Given the description of an element on the screen output the (x, y) to click on. 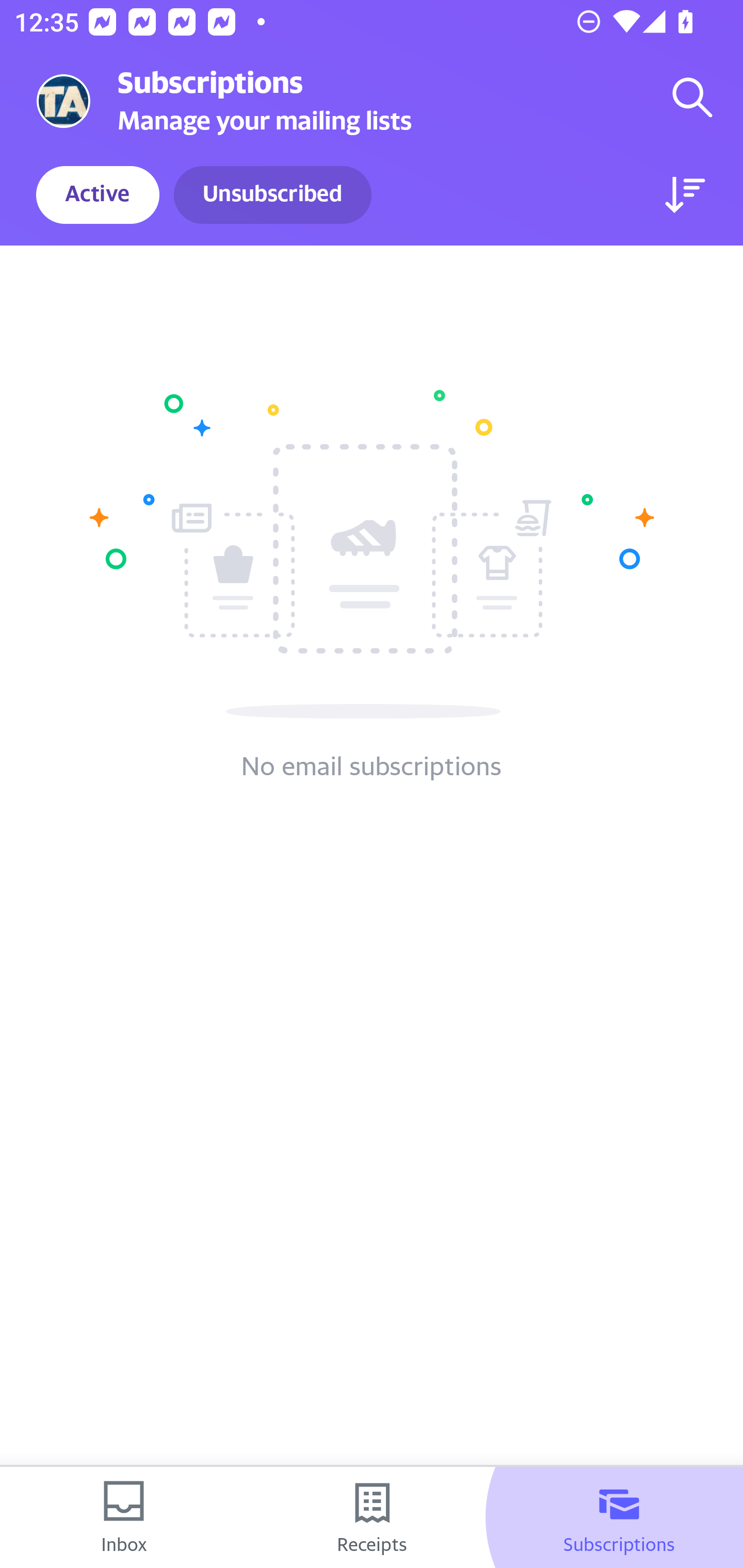
Search mail (692, 97)
Unsubscribed (272, 195)
Sort (684, 195)
Inbox (123, 1517)
Receipts (371, 1517)
Subscriptions (619, 1517)
